Given the description of an element on the screen output the (x, y) to click on. 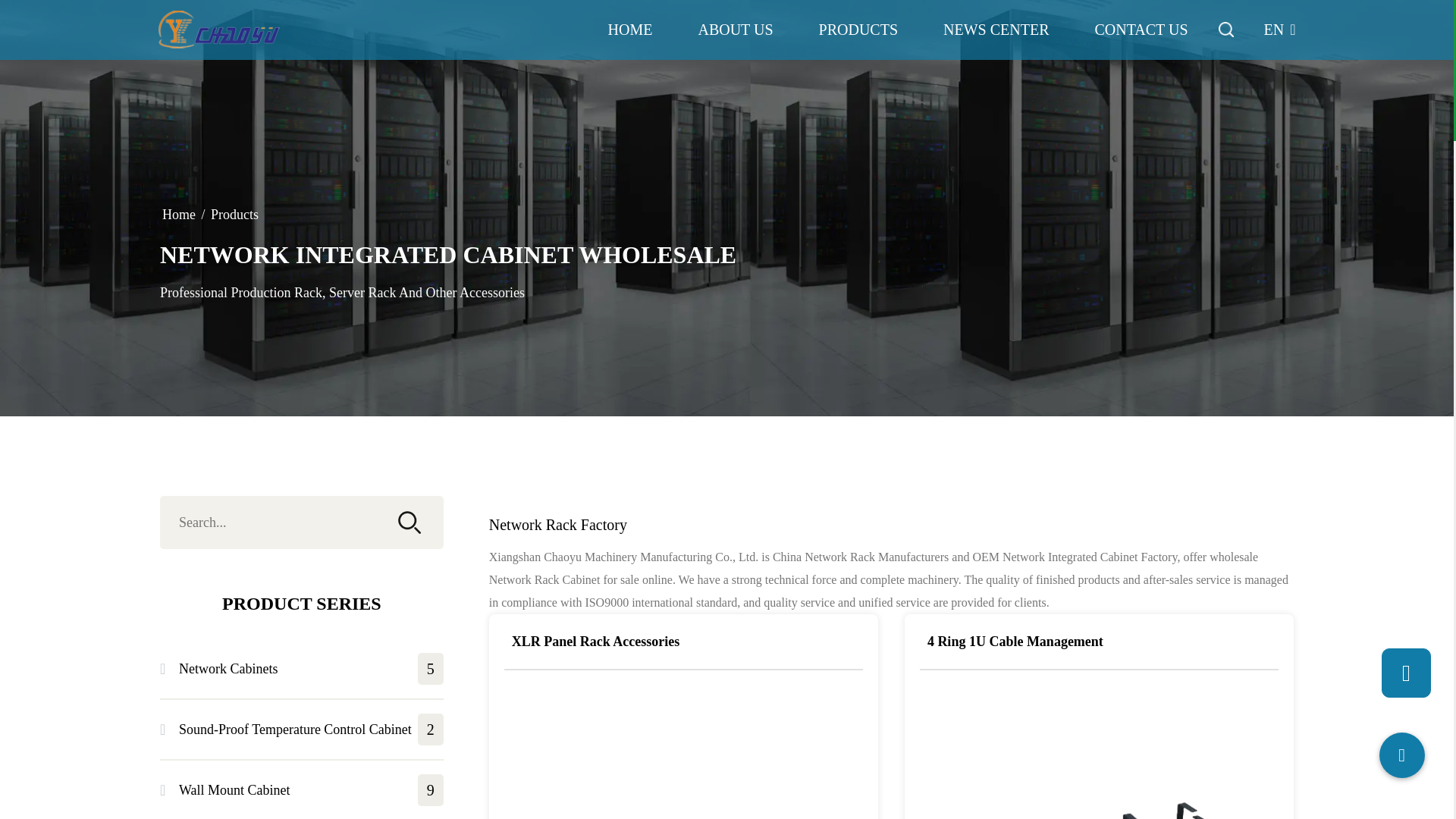
XLR Panel Rack Accessories (683, 755)
HOME (630, 29)
NEWS CENTER (995, 29)
CONTACT US (1141, 29)
ABOUT US (735, 29)
4 Ring 1U Cable Management (1098, 755)
PRODUCTS (858, 29)
